Given the description of an element on the screen output the (x, y) to click on. 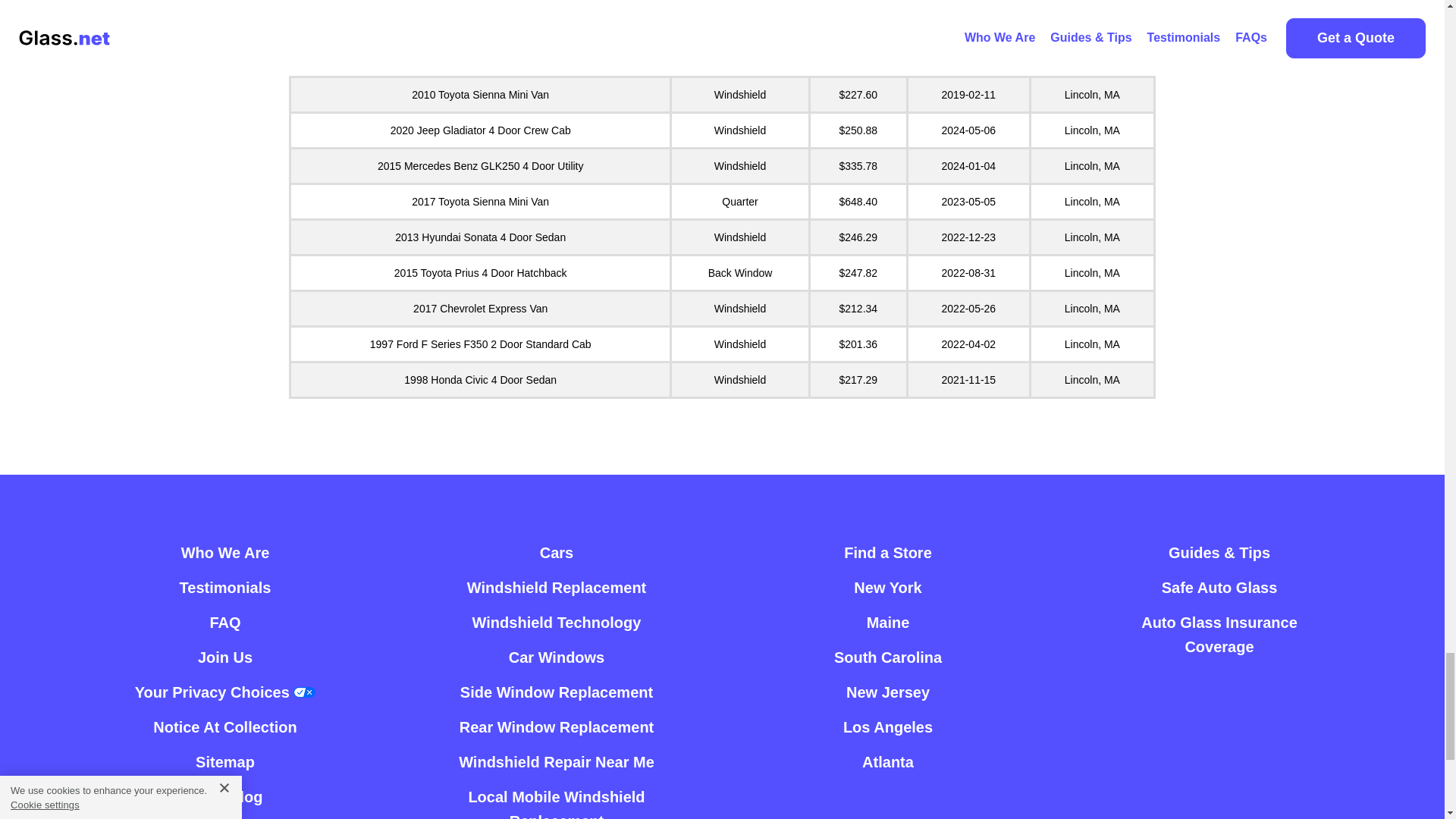
Notice At Collection  (224, 727)
Repair or Replace Auto Glass By Car Make (556, 552)
New York (887, 587)
Maine (888, 622)
Car Windows (556, 656)
Read Blog (225, 796)
Articles and Tips for Car Owners (225, 796)
Testimonials (224, 587)
Side Window Replacement (556, 692)
Testimonials (224, 587)
